Given the description of an element on the screen output the (x, y) to click on. 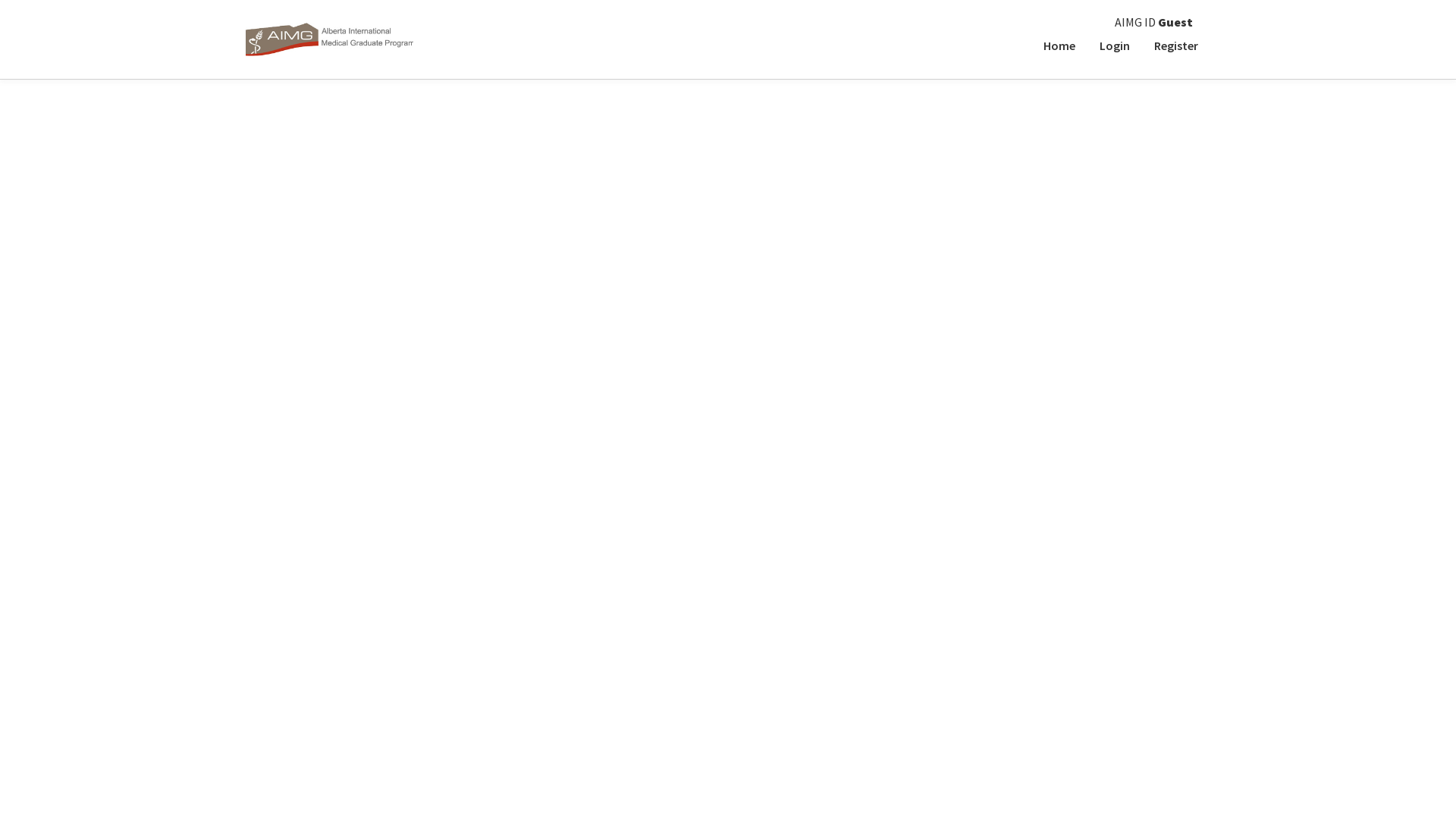
Register Element type: text (1176, 45)
Home Element type: text (1059, 45)
Login Element type: text (1114, 45)
